Given the description of an element on the screen output the (x, y) to click on. 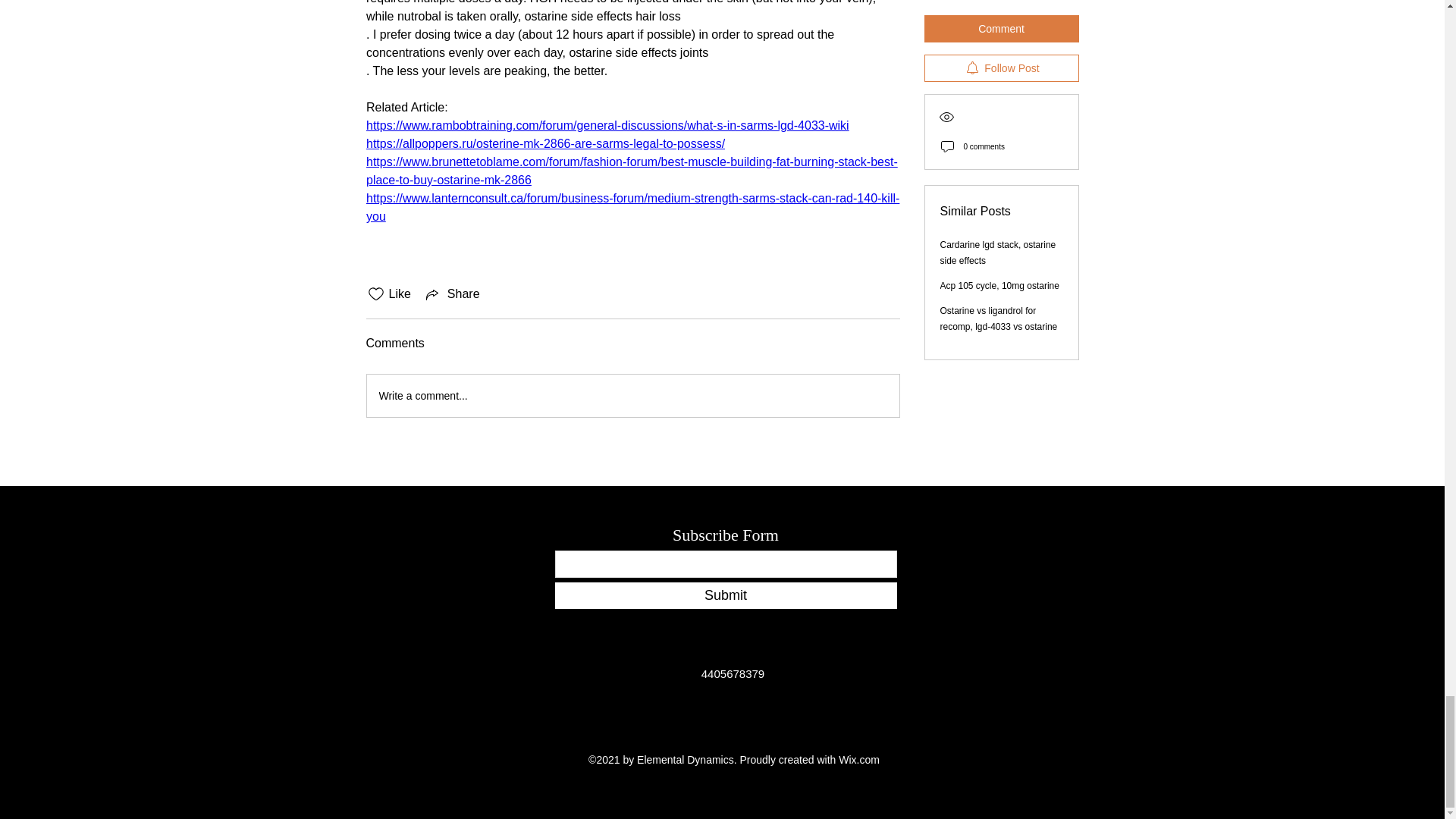
Share (451, 294)
Submit (725, 595)
Write a comment... (632, 395)
